Given the description of an element on the screen output the (x, y) to click on. 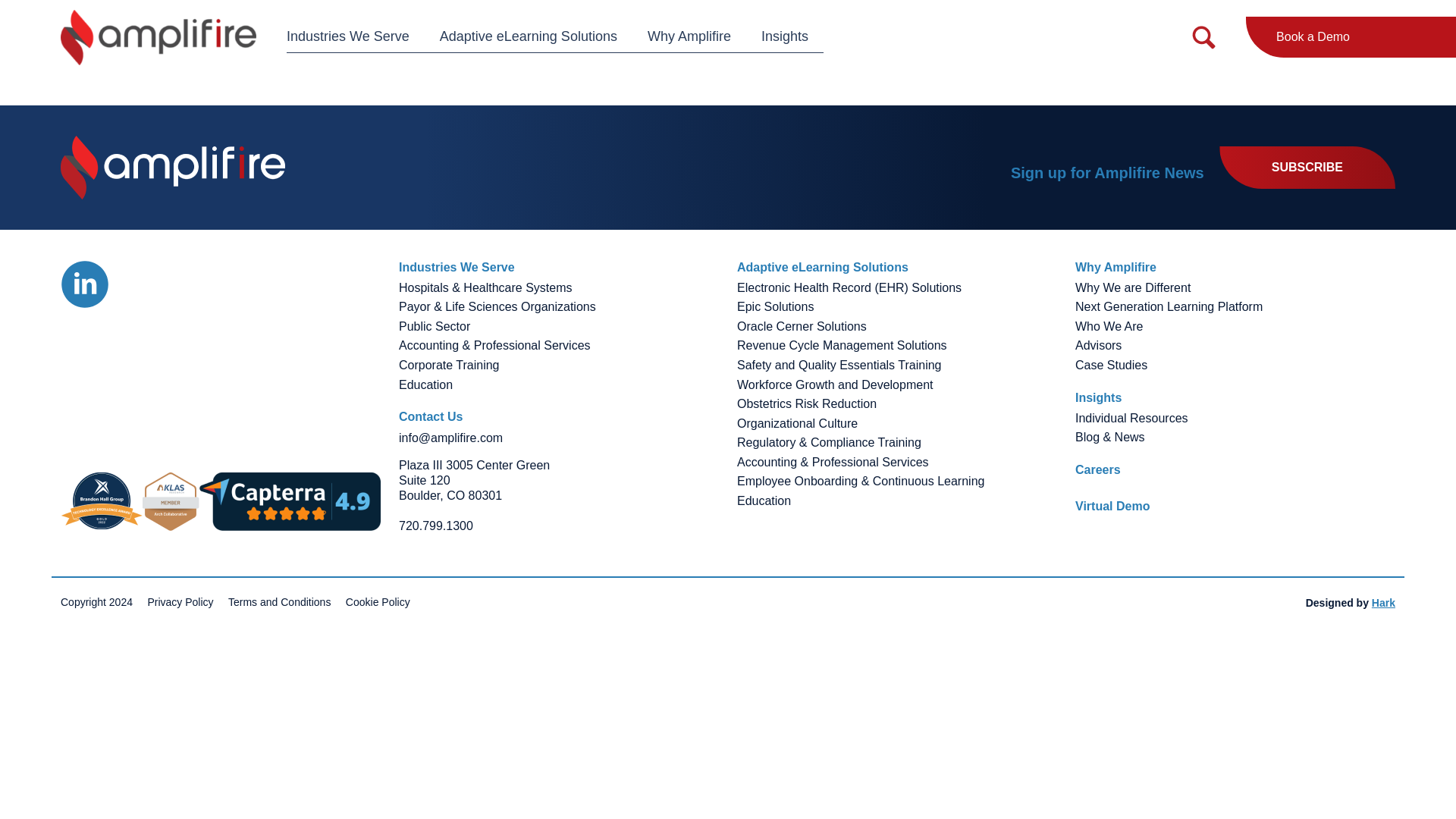
Why Amplifire (688, 36)
Insights (784, 36)
Industries We Serve (355, 36)
Adaptive eLearning Solutions (528, 36)
